Given the description of an element on the screen output the (x, y) to click on. 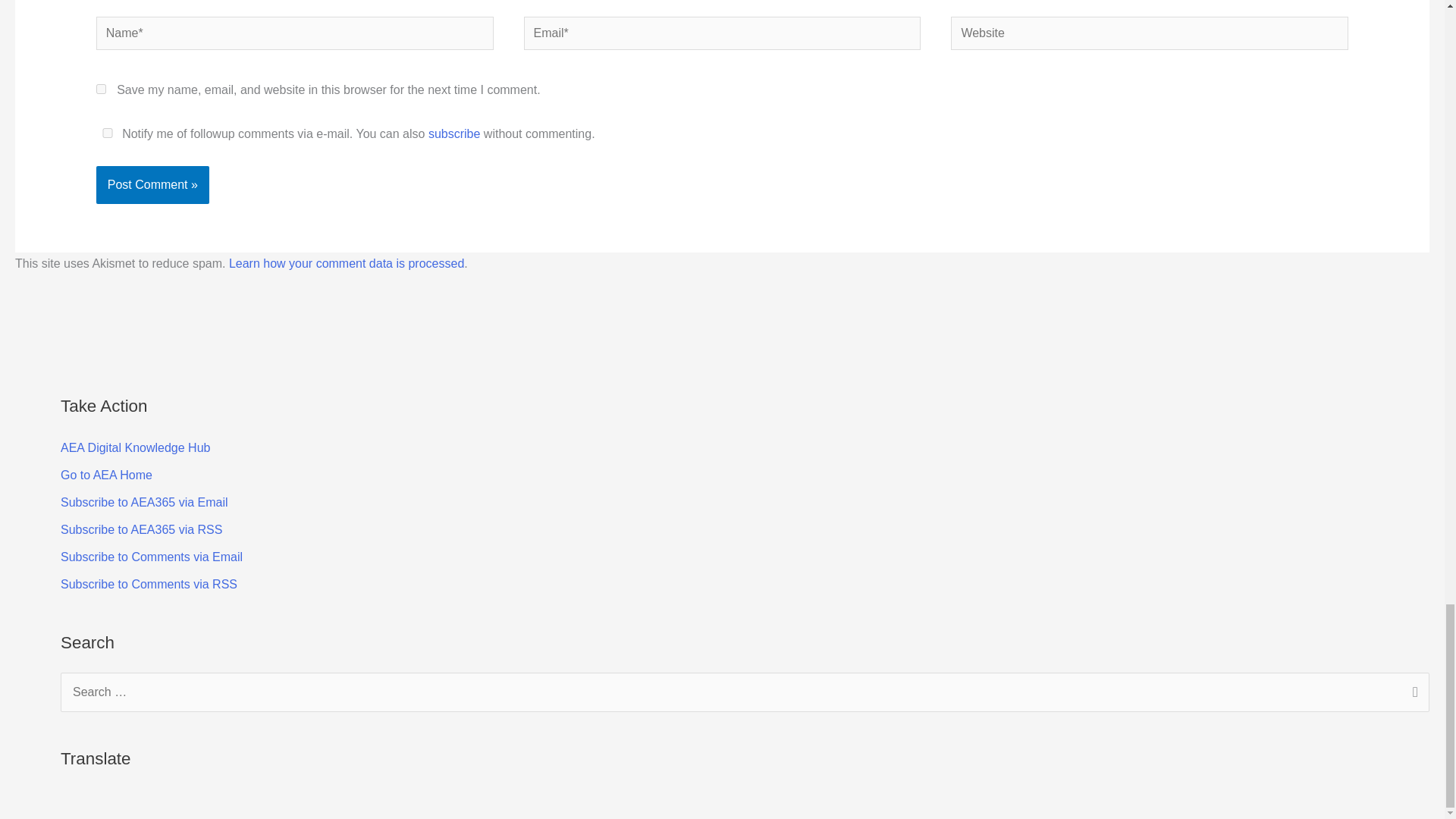
subscribe (454, 133)
Subscribe to aea365 via RSS feed (141, 529)
Subscribe to AEA365 via RSS (141, 529)
Subscribe to Comments via Email (152, 556)
yes (101, 89)
American Evaluation Association Homepage (106, 474)
Subscribe to AEA365 via Email (144, 502)
Go to AEA Home (106, 474)
yes (107, 132)
